Given the description of an element on the screen output the (x, y) to click on. 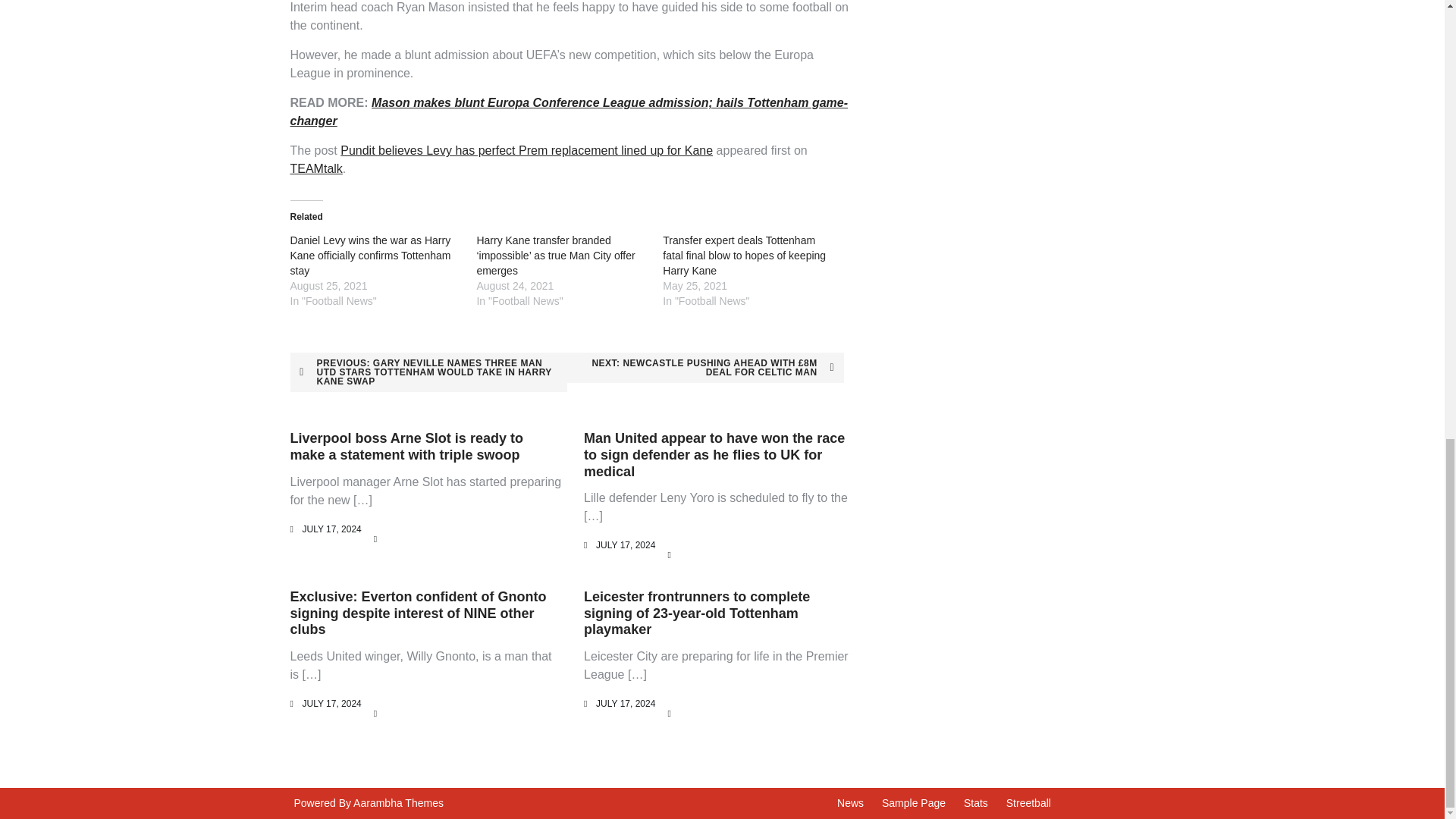
JULY 17, 2024 (625, 544)
JULY 17, 2024 (331, 529)
TEAMtalk (315, 168)
JULY 17, 2024 (331, 703)
